Given the description of an element on the screen output the (x, y) to click on. 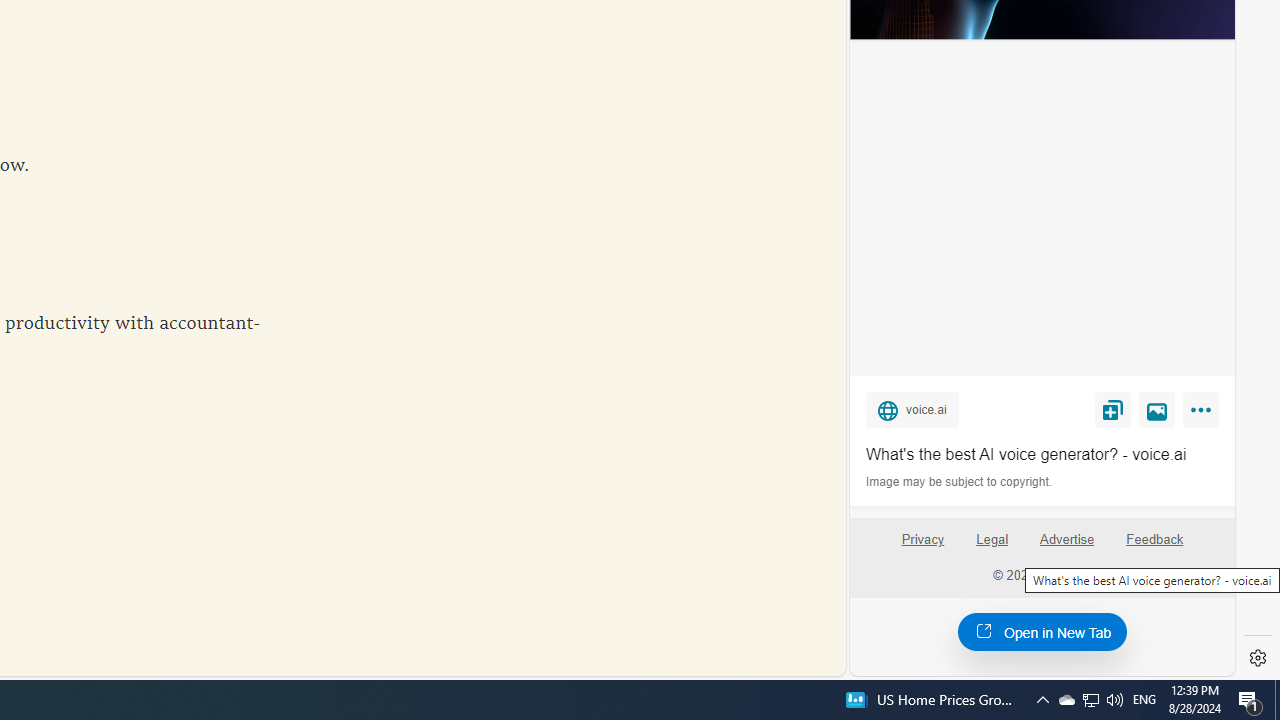
Legal (991, 539)
Image may be subject to copyright. (959, 481)
Open in New Tab (1042, 631)
voice.ai (912, 409)
View image (1157, 409)
Save (1112, 409)
Legal (992, 547)
